Given the description of an element on the screen output the (x, y) to click on. 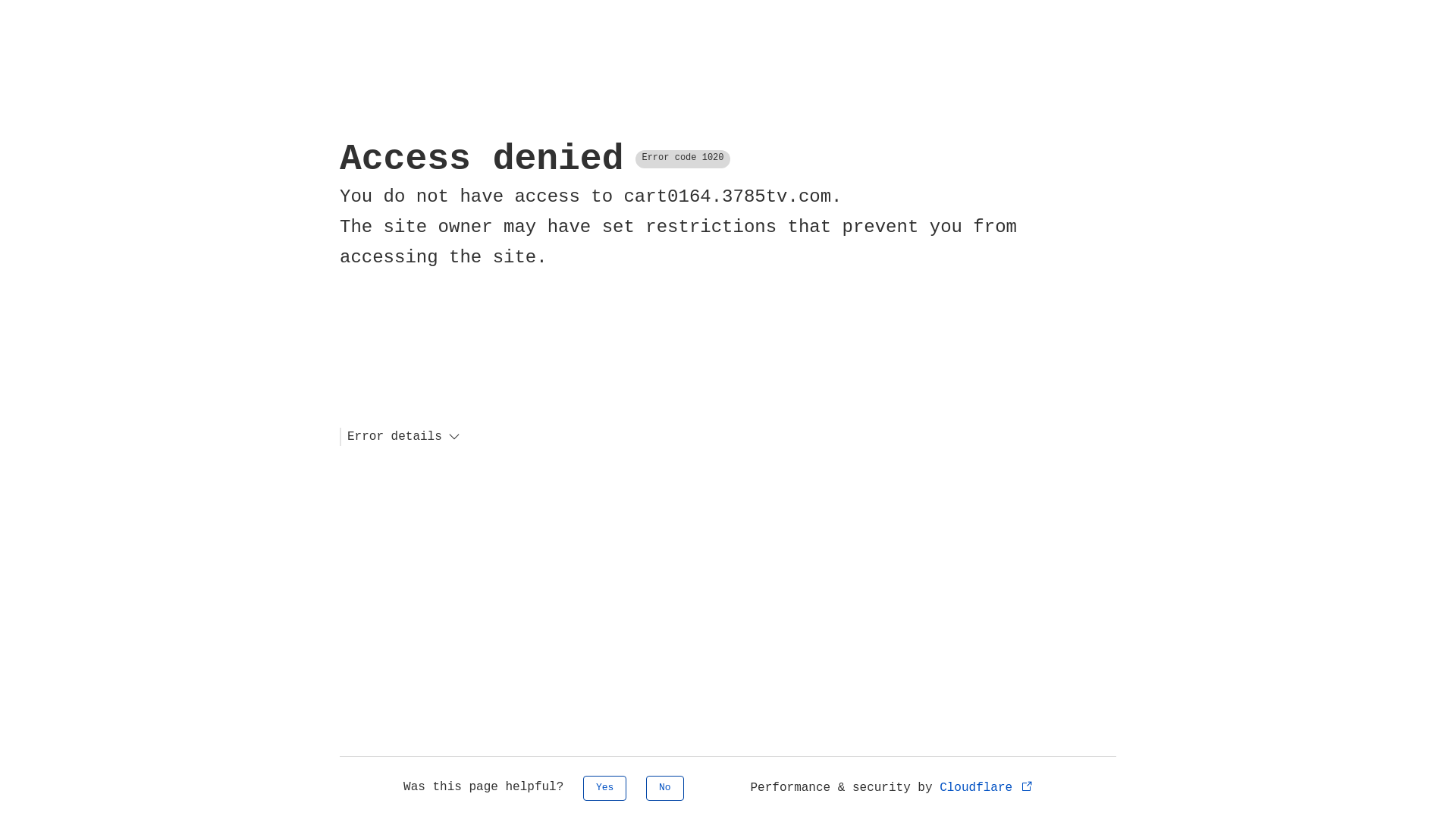
Opens in new tab Element type: hover (1027, 785)
Cloudflare Element type: text (986, 787)
Yes Element type: text (604, 787)
No Element type: text (665, 787)
